Given the description of an element on the screen output the (x, y) to click on. 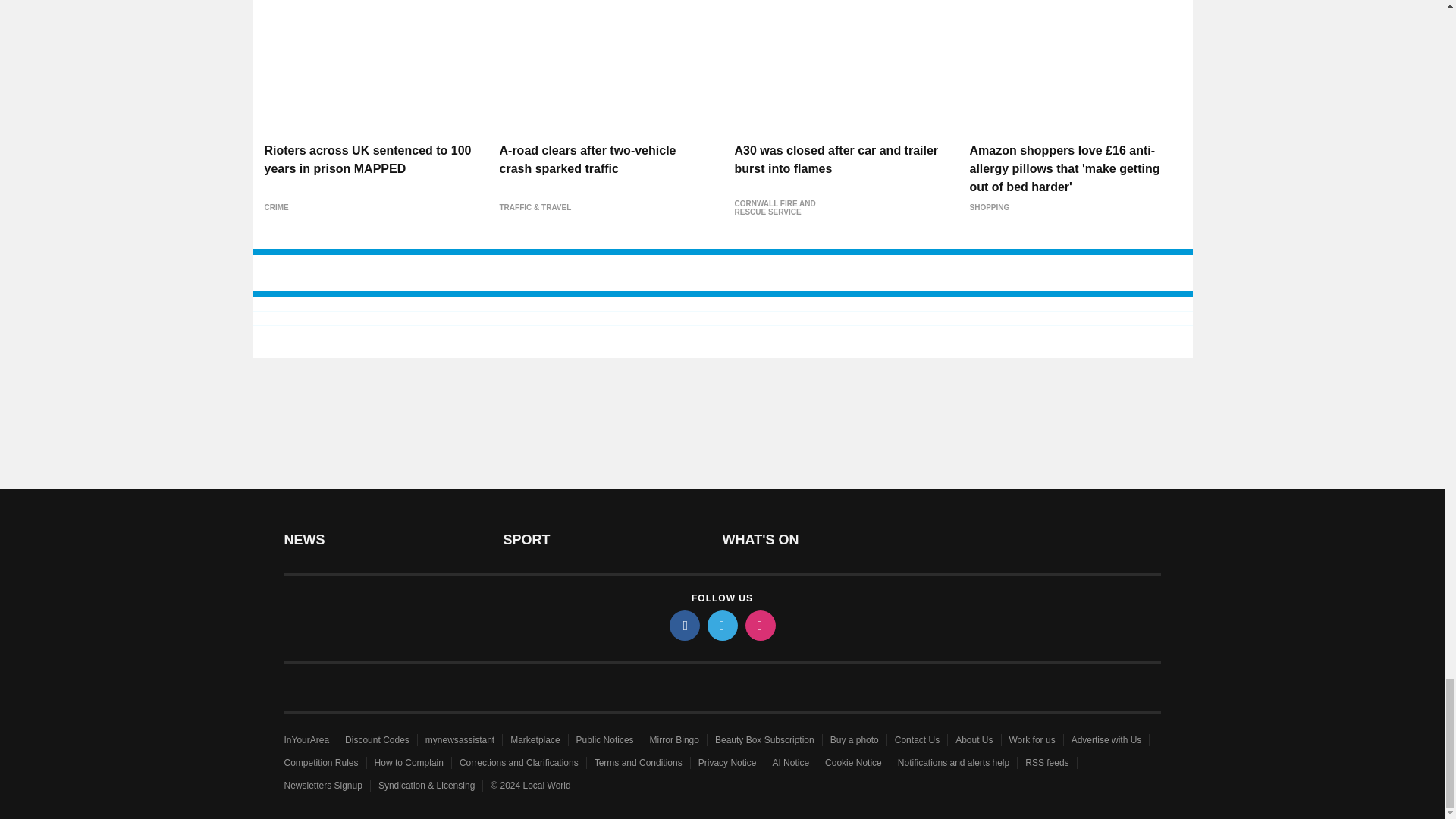
twitter (721, 625)
instagram (759, 625)
facebook (683, 625)
